Given the description of an element on the screen output the (x, y) to click on. 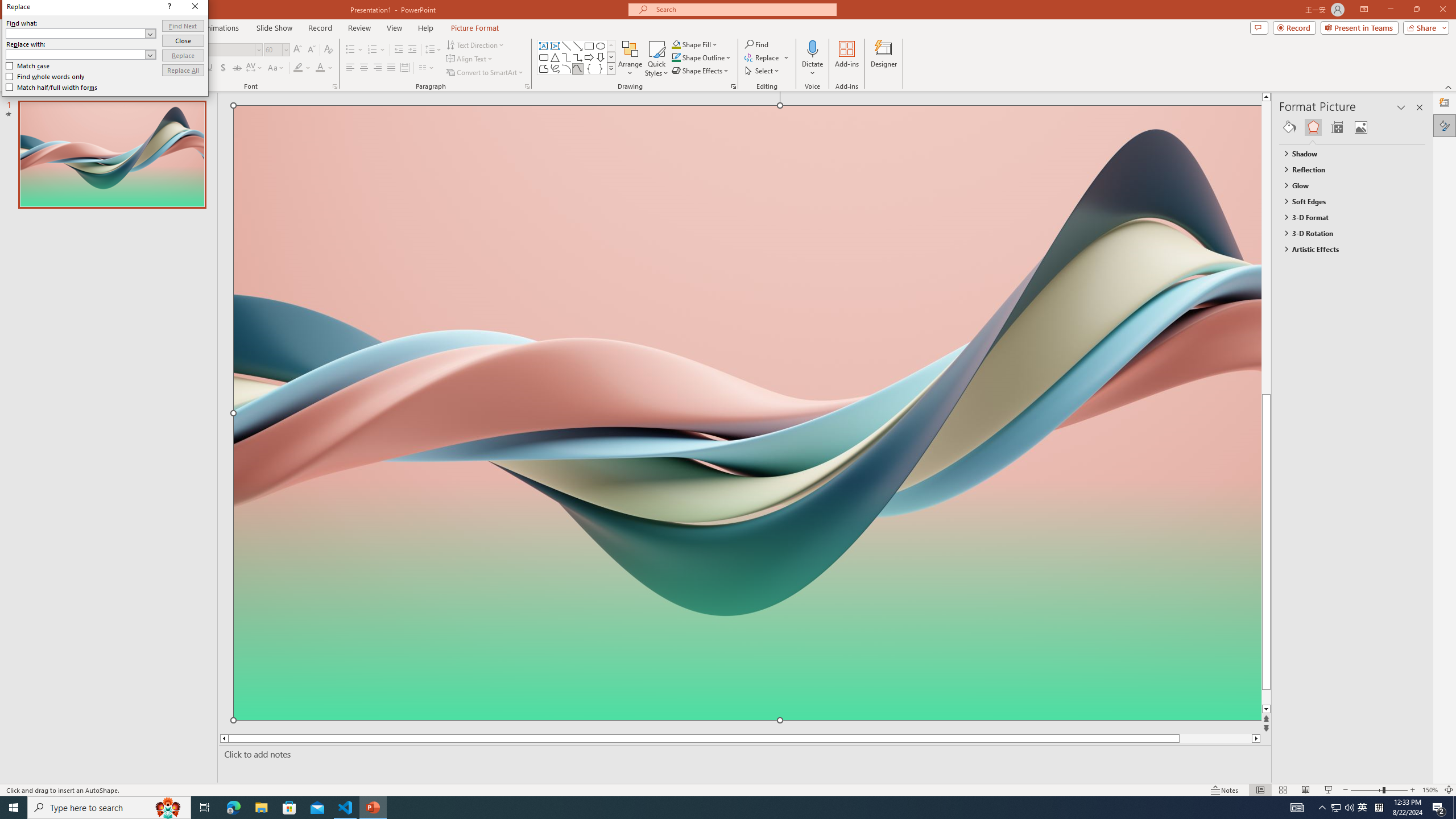
Find whole words only (45, 76)
